Given the description of an element on the screen output the (x, y) to click on. 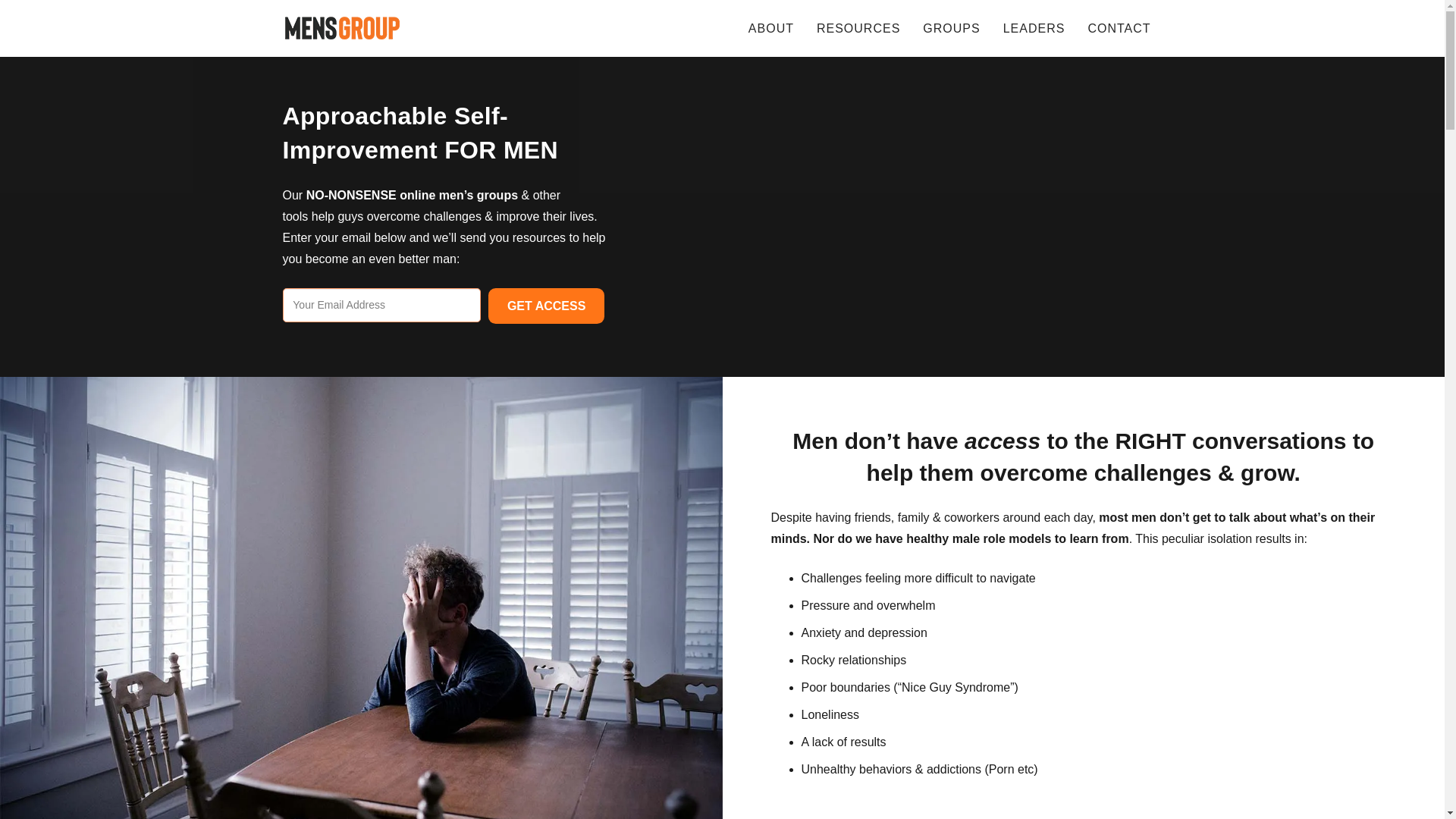
GROUPS (951, 28)
GET ACCESS (545, 305)
YouTube video player (861, 214)
ABOUT (770, 28)
CONTACT (1118, 28)
RESOURCES (858, 28)
LEADERS (1034, 28)
